Given the description of an element on the screen output the (x, y) to click on. 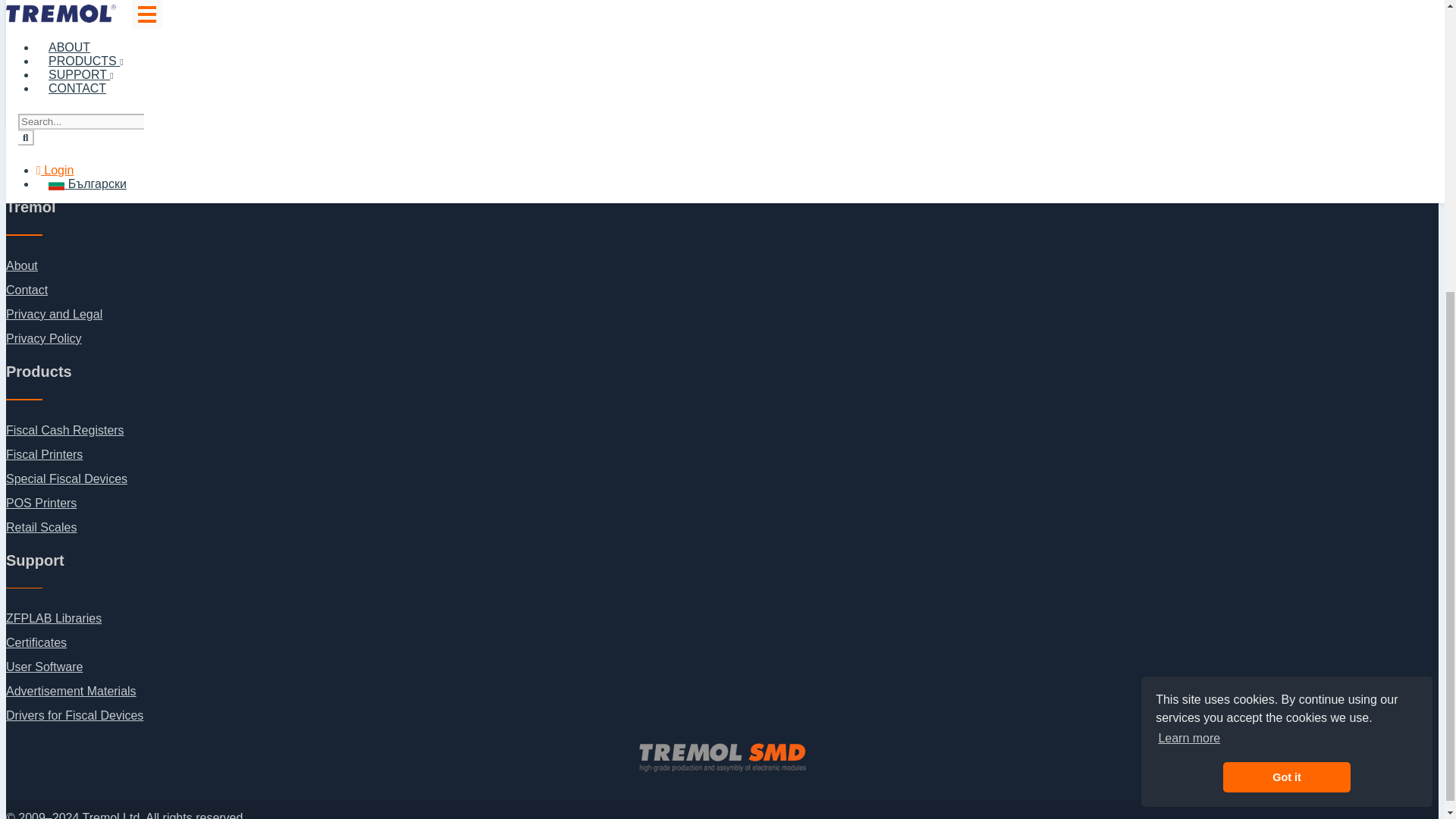
Retail Scales (41, 526)
Fiscal Printers (43, 454)
About (21, 265)
Learn more (1189, 285)
User Software (43, 666)
Certificates (35, 642)
ZFPLAB Libraries (53, 617)
Special Fiscal Devices (66, 478)
Fiscal Cash Registers (64, 430)
Contact (26, 289)
Advertisement Materials (70, 690)
Privacy Policy (43, 338)
Privacy and Legal (53, 314)
Got it (1286, 324)
POS Printers (41, 502)
